Given the description of an element on the screen output the (x, y) to click on. 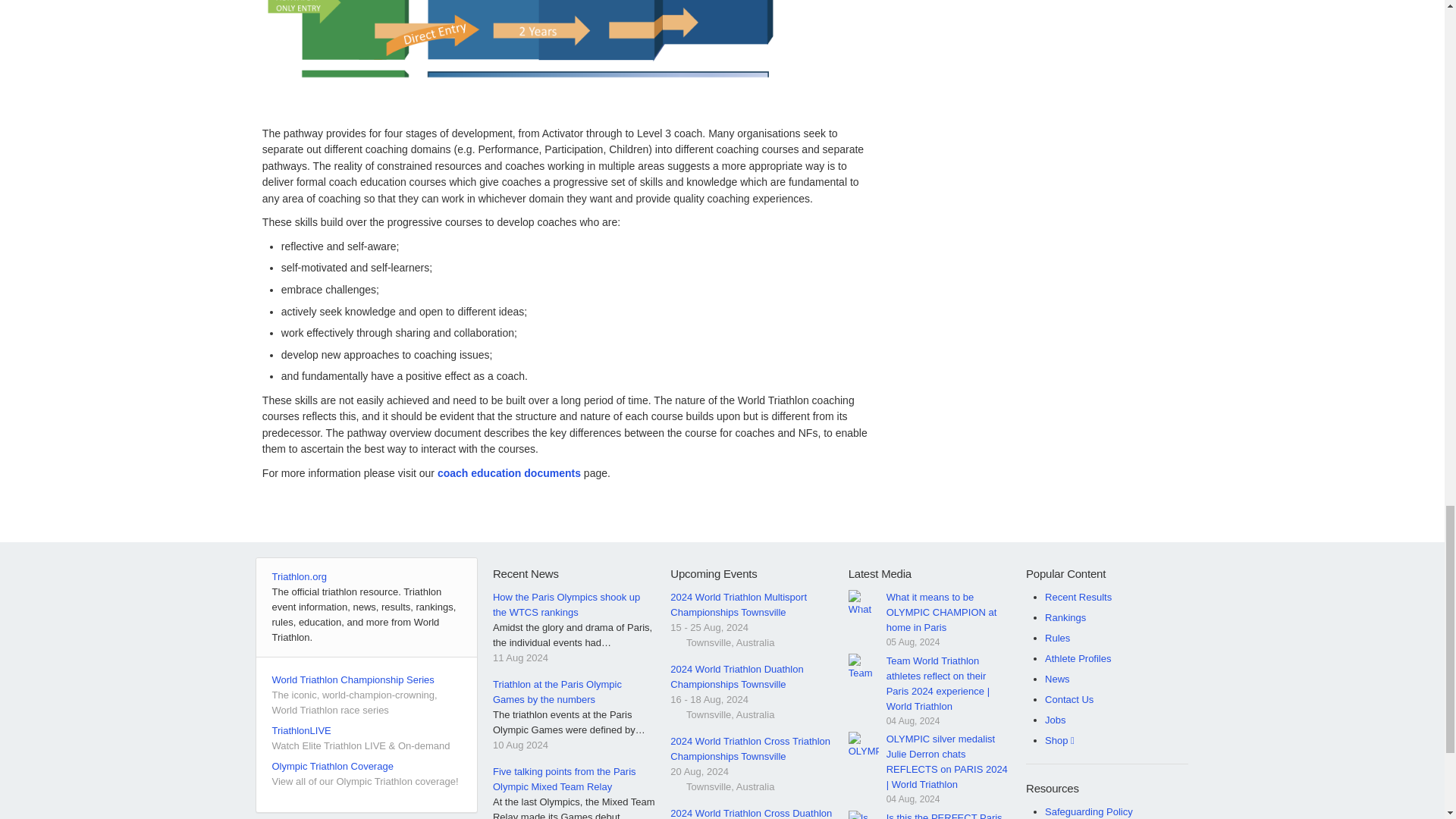
Australia flag (675, 786)
Australia flag (675, 642)
Australia flag (675, 714)
